Given the description of an element on the screen output the (x, y) to click on. 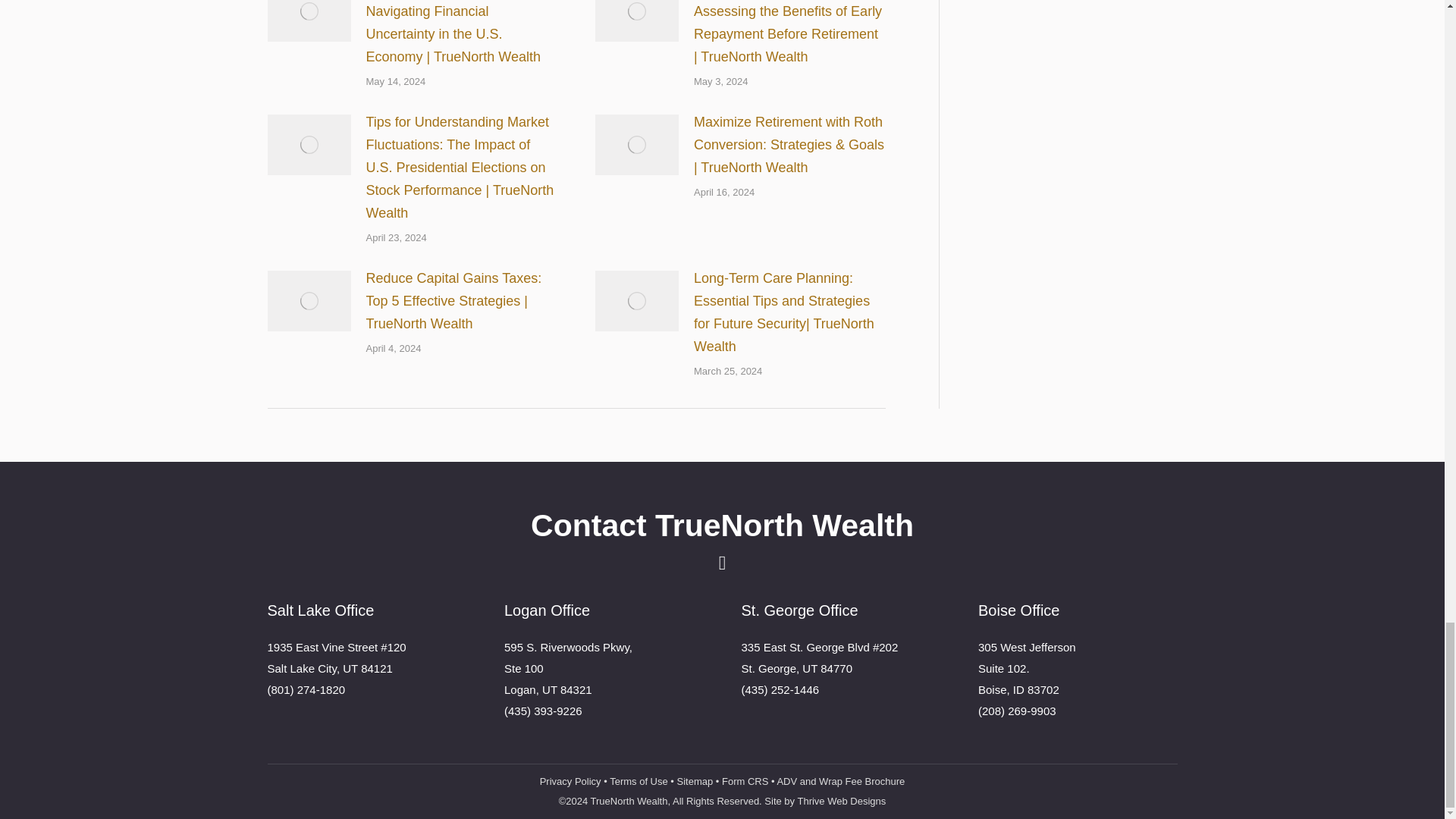
Linkedin page opens in new window (722, 563)
